Given the description of an element on the screen output the (x, y) to click on. 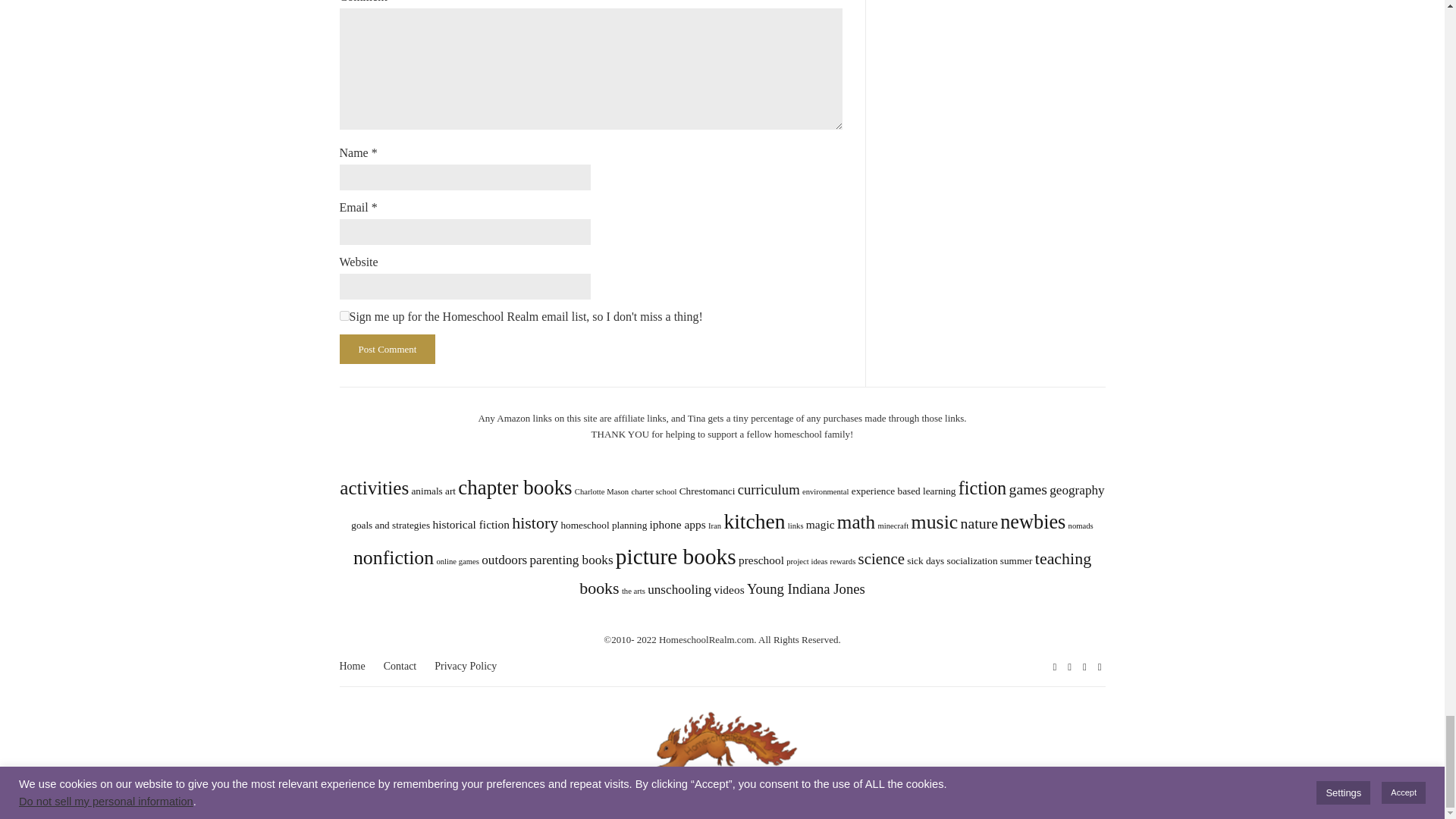
1 (344, 316)
Post Comment (387, 348)
